Given the description of an element on the screen output the (x, y) to click on. 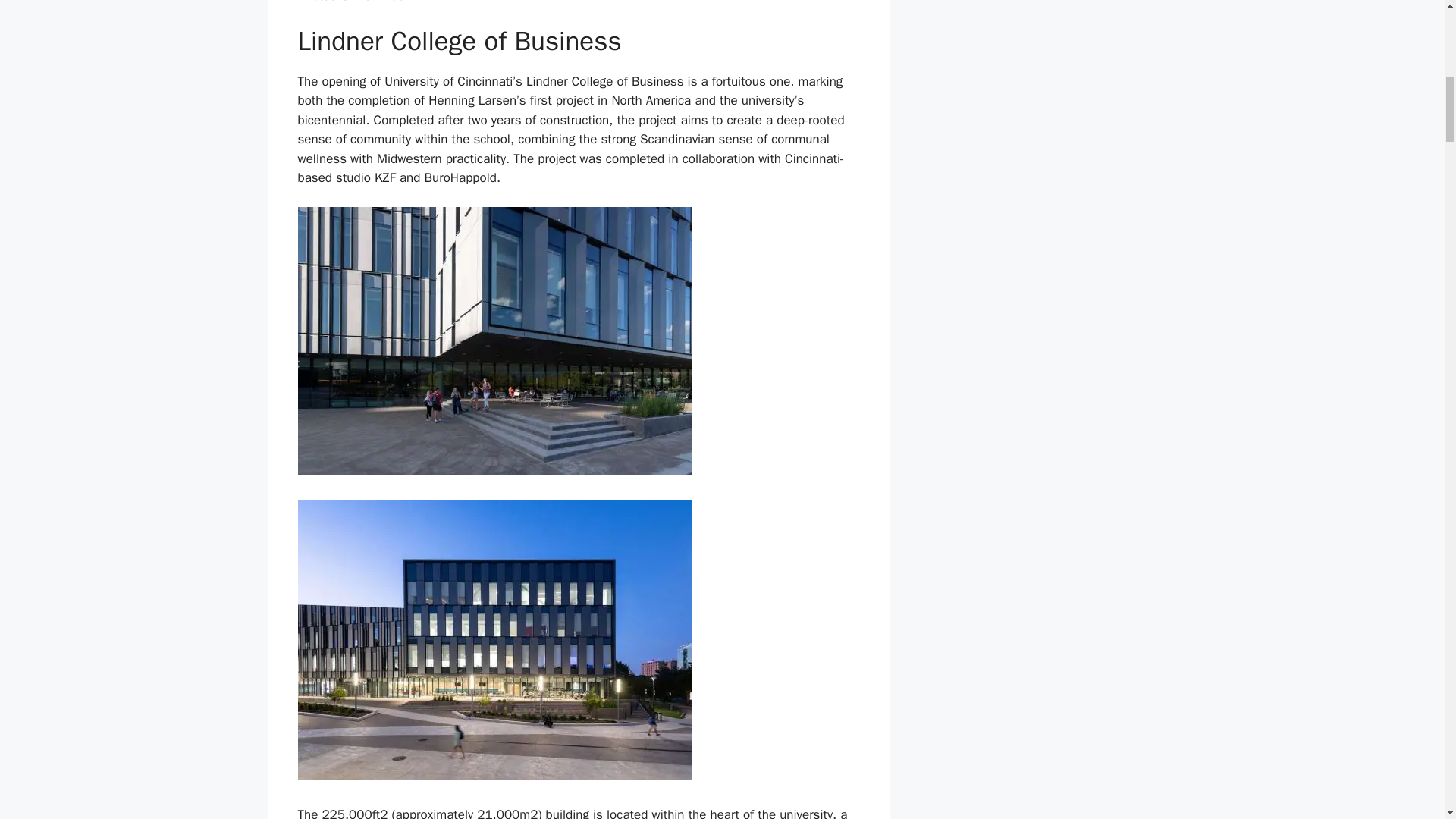
Scroll back to top (1406, 720)
